Given the description of an element on the screen output the (x, y) to click on. 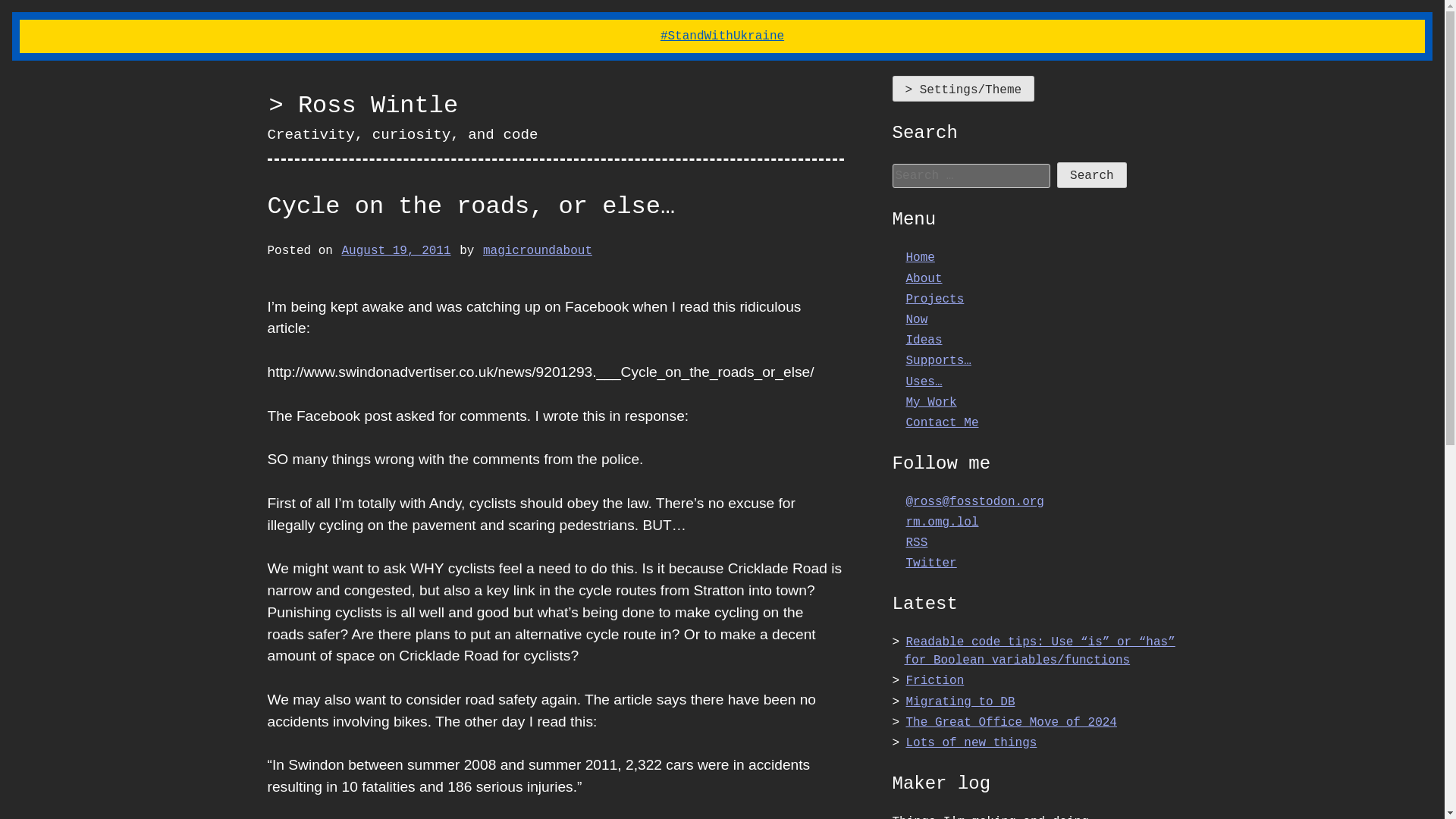
rm.omg.lol (941, 522)
Projects (934, 299)
Contact Me (941, 422)
RSS (916, 542)
Friction (934, 680)
Lots of new things (971, 742)
About (923, 279)
Search (1091, 175)
Stand With Ukraine (721, 36)
Migrating to DB (960, 701)
Twitter (931, 563)
Now (916, 320)
August 19, 2011 (396, 250)
The Great Office Move of 2024 (1011, 722)
Search (1091, 175)
